Given the description of an element on the screen output the (x, y) to click on. 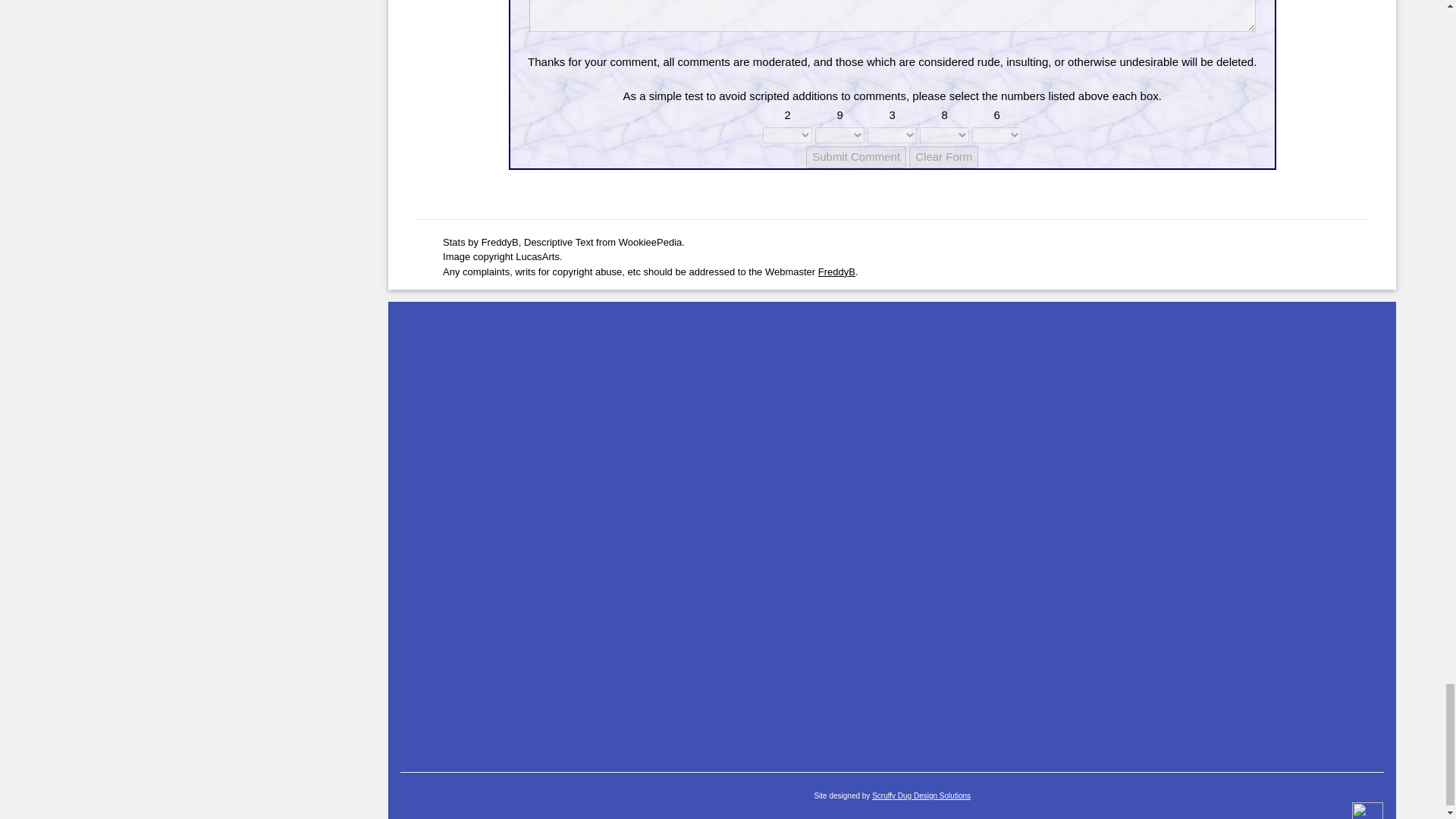
Clear Form (943, 157)
Submit Comment (855, 157)
